Given the description of an element on the screen output the (x, y) to click on. 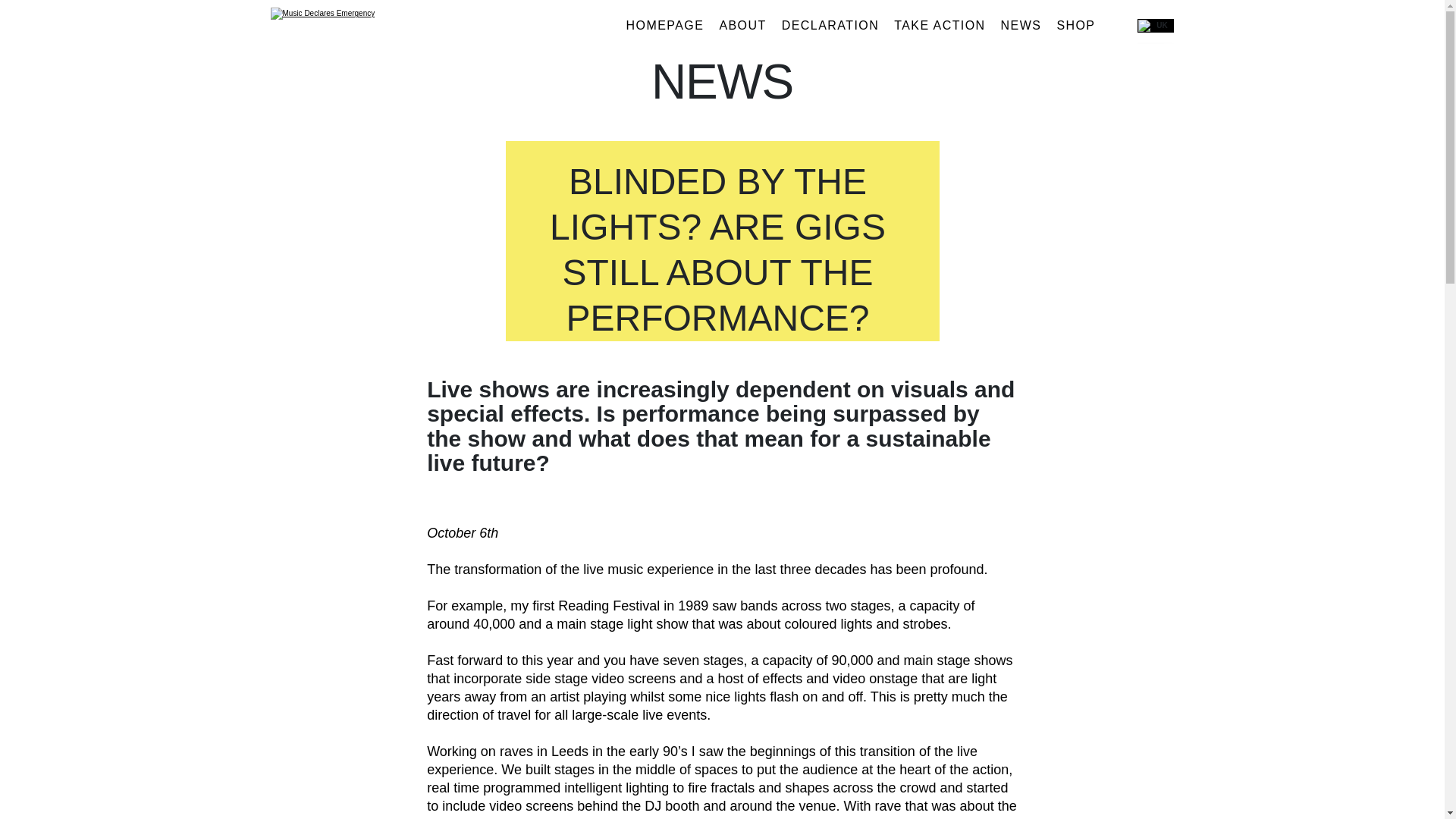
NEWS (1020, 25)
SHOP (1075, 25)
ABOUT (742, 25)
TAKE ACTION (939, 25)
DECLARATION (830, 25)
HOMEPAGE (664, 25)
